Given the description of an element on the screen output the (x, y) to click on. 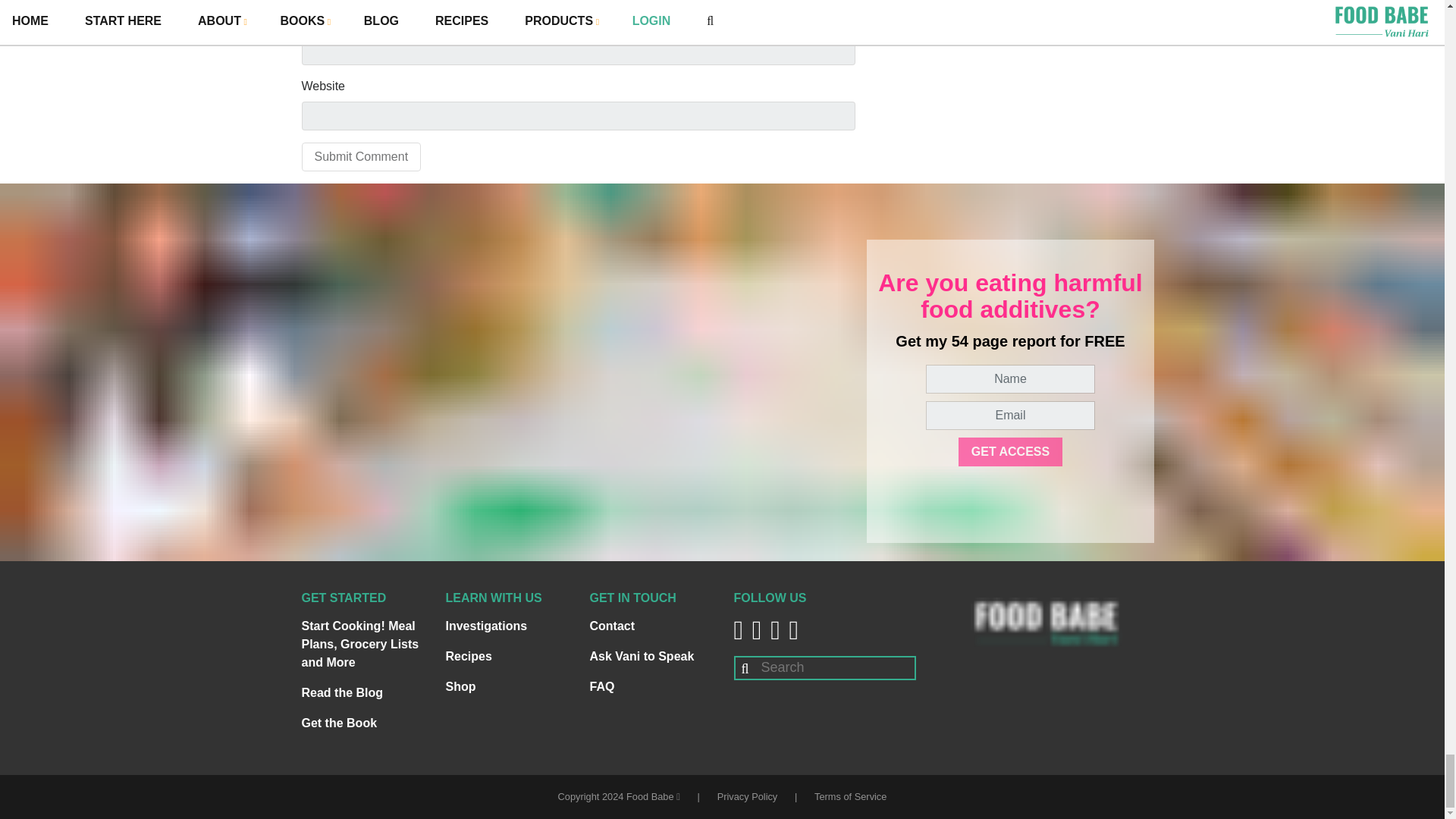
Submit Comment (361, 156)
